Given the description of an element on the screen output the (x, y) to click on. 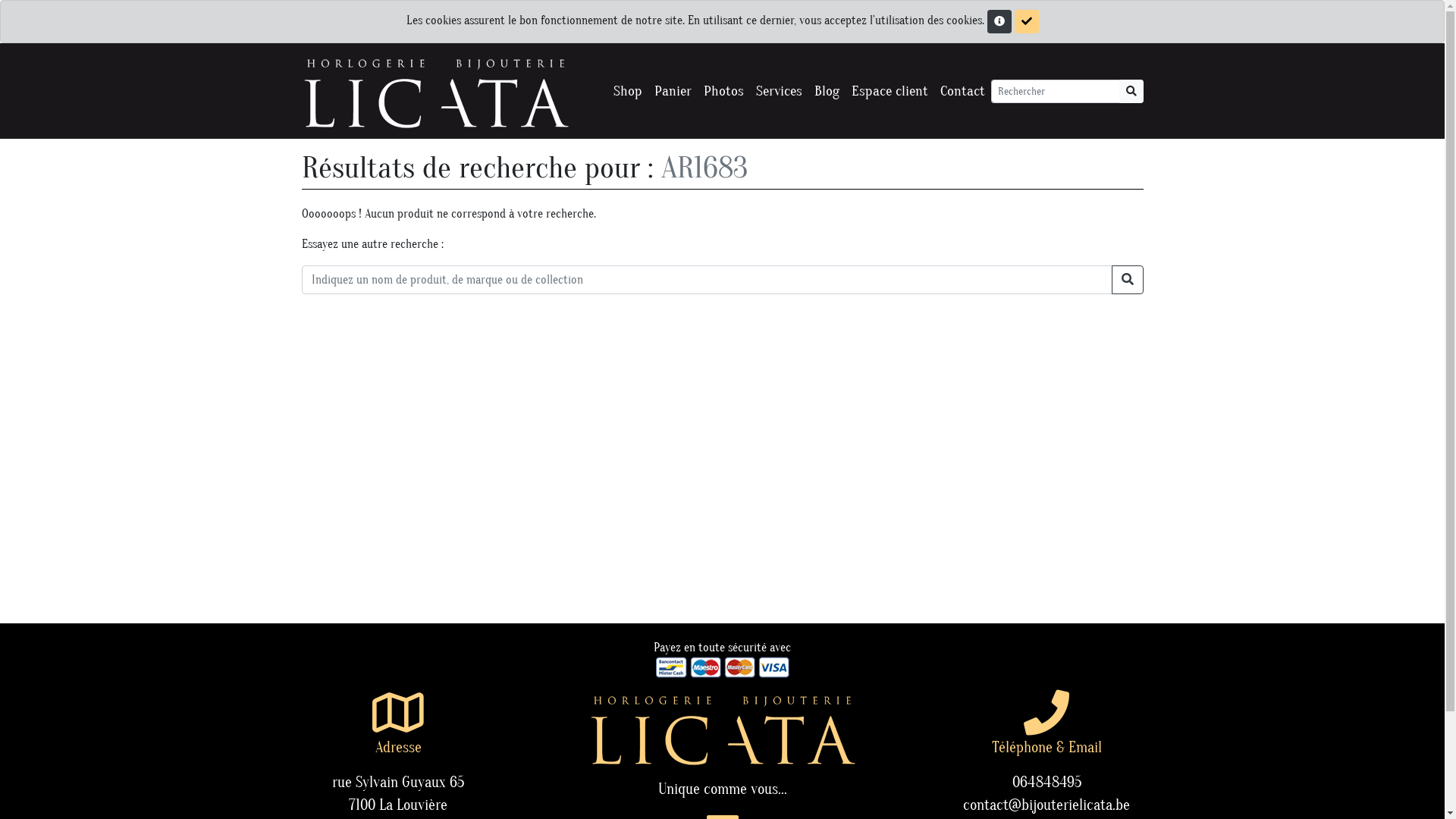
contact@bijouterielicata.be Element type: text (1046, 804)
Photos Element type: text (723, 91)
Contact Element type: text (962, 91)
Panier Element type: text (671, 91)
Shop Element type: text (626, 91)
Services Element type: text (778, 91)
Bijouterie Licata Element type: hover (435, 90)
Blog Element type: text (826, 91)
Espace client Element type: text (888, 91)
